Given the description of an element on the screen output the (x, y) to click on. 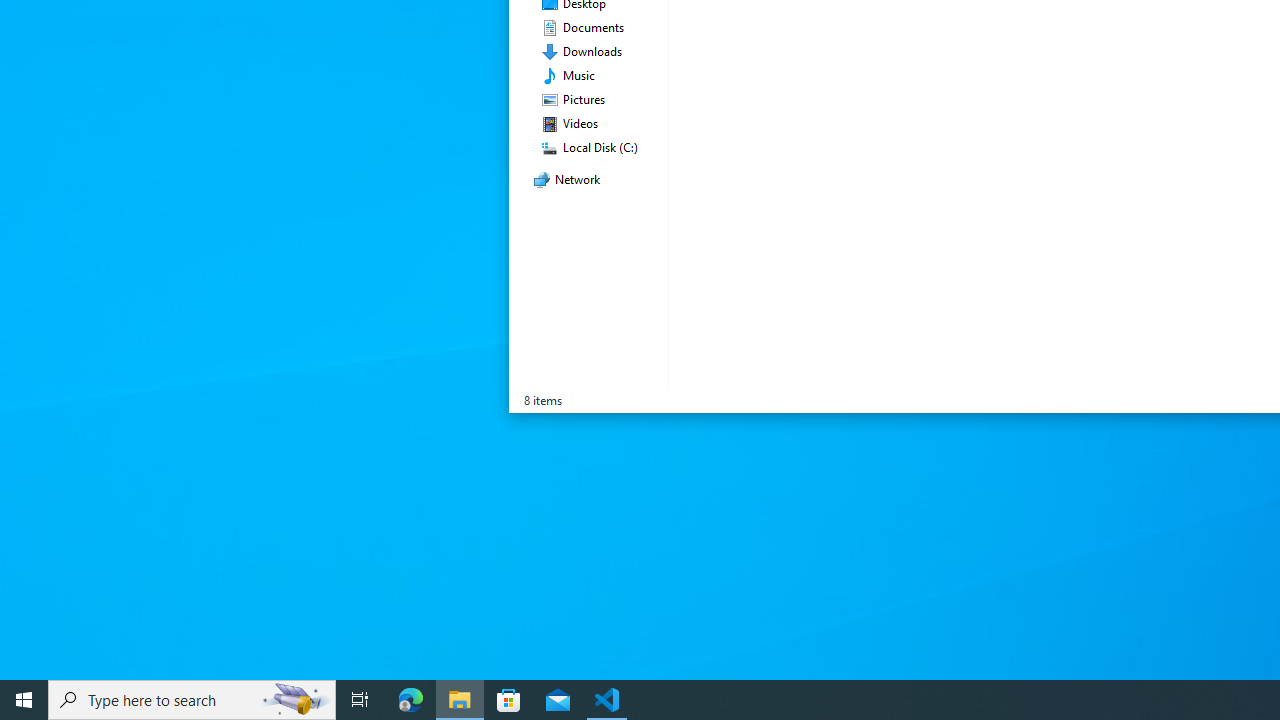
File Explorer - 1 running window (460, 699)
